Given the description of an element on the screen output the (x, y) to click on. 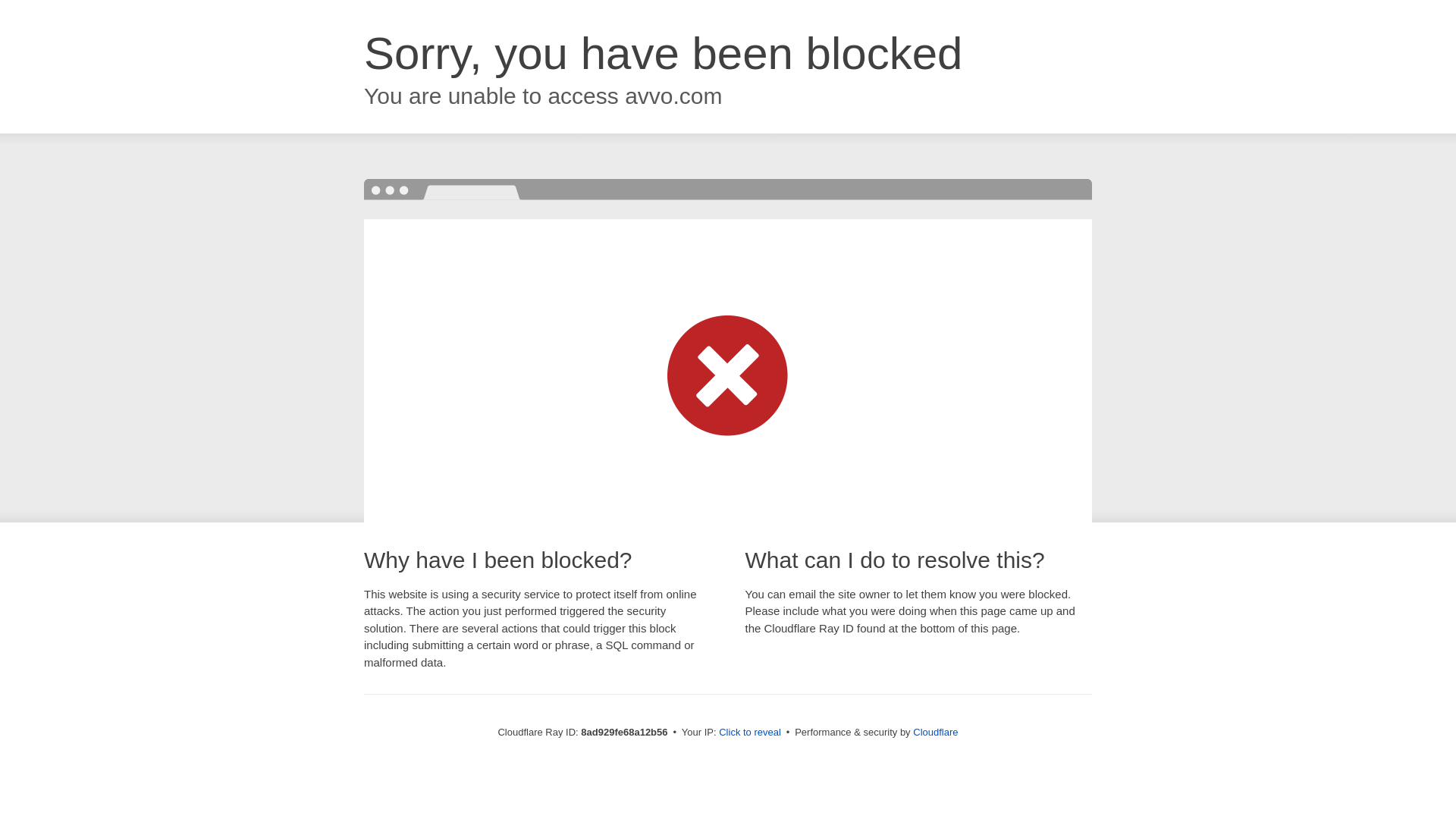
Click to reveal (749, 732)
Cloudflare (935, 731)
